Given the description of an element on the screen output the (x, y) to click on. 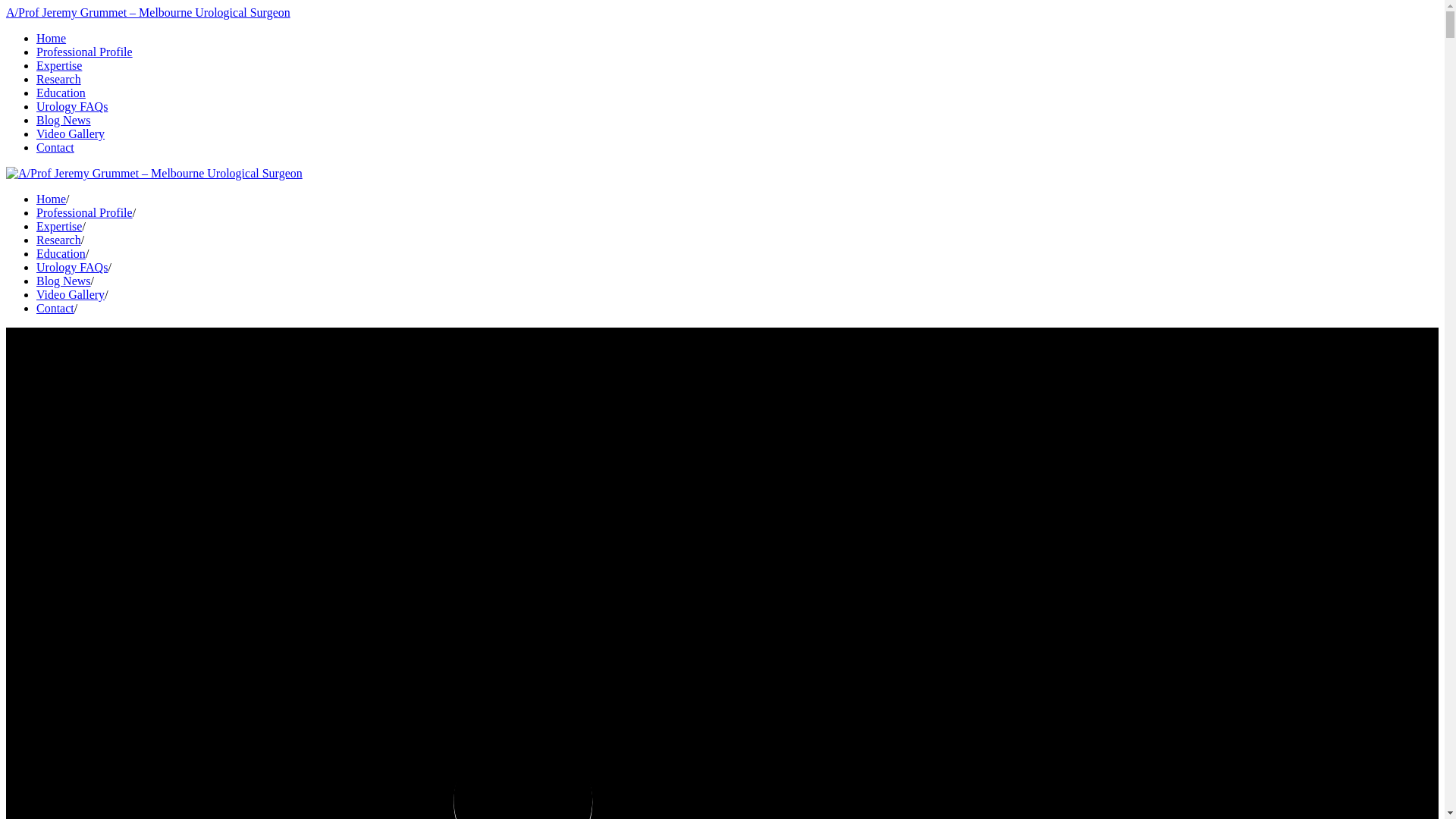
Research Element type: text (58, 239)
Contact Element type: text (55, 307)
Home Element type: text (50, 198)
Video Gallery Element type: text (70, 294)
Home Element type: text (50, 37)
Contact Element type: text (55, 147)
Education Element type: text (60, 253)
Urology FAQs Element type: text (71, 106)
Expertise Element type: text (58, 65)
Professional Profile Element type: text (84, 212)
Video Gallery Element type: text (70, 133)
Research Element type: text (58, 78)
Expertise Element type: text (58, 225)
Urology FAQs Element type: text (71, 266)
Blog News Element type: text (63, 280)
Blog News Element type: text (63, 119)
Professional Profile Element type: text (84, 51)
Education Element type: text (60, 92)
